Given the description of an element on the screen output the (x, y) to click on. 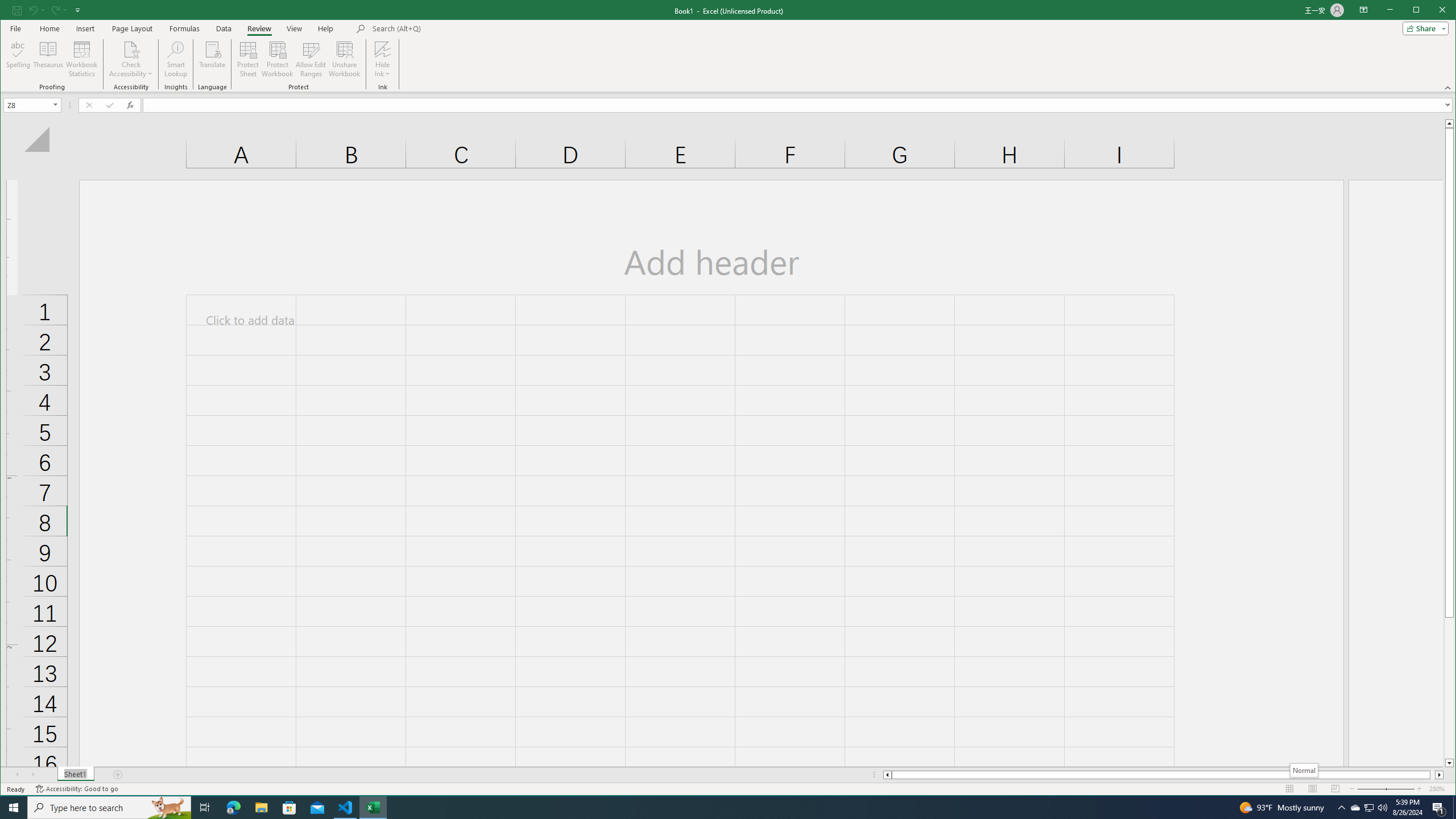
Collapse the Ribbon (1448, 87)
Accessibility Checker Accessibility: Good to go (76, 788)
Translate (212, 59)
Scroll Left (18, 774)
Formula Bar (799, 104)
Hide Ink (382, 48)
Minimize (1419, 11)
Formulas (184, 28)
